Given the description of an element on the screen output the (x, y) to click on. 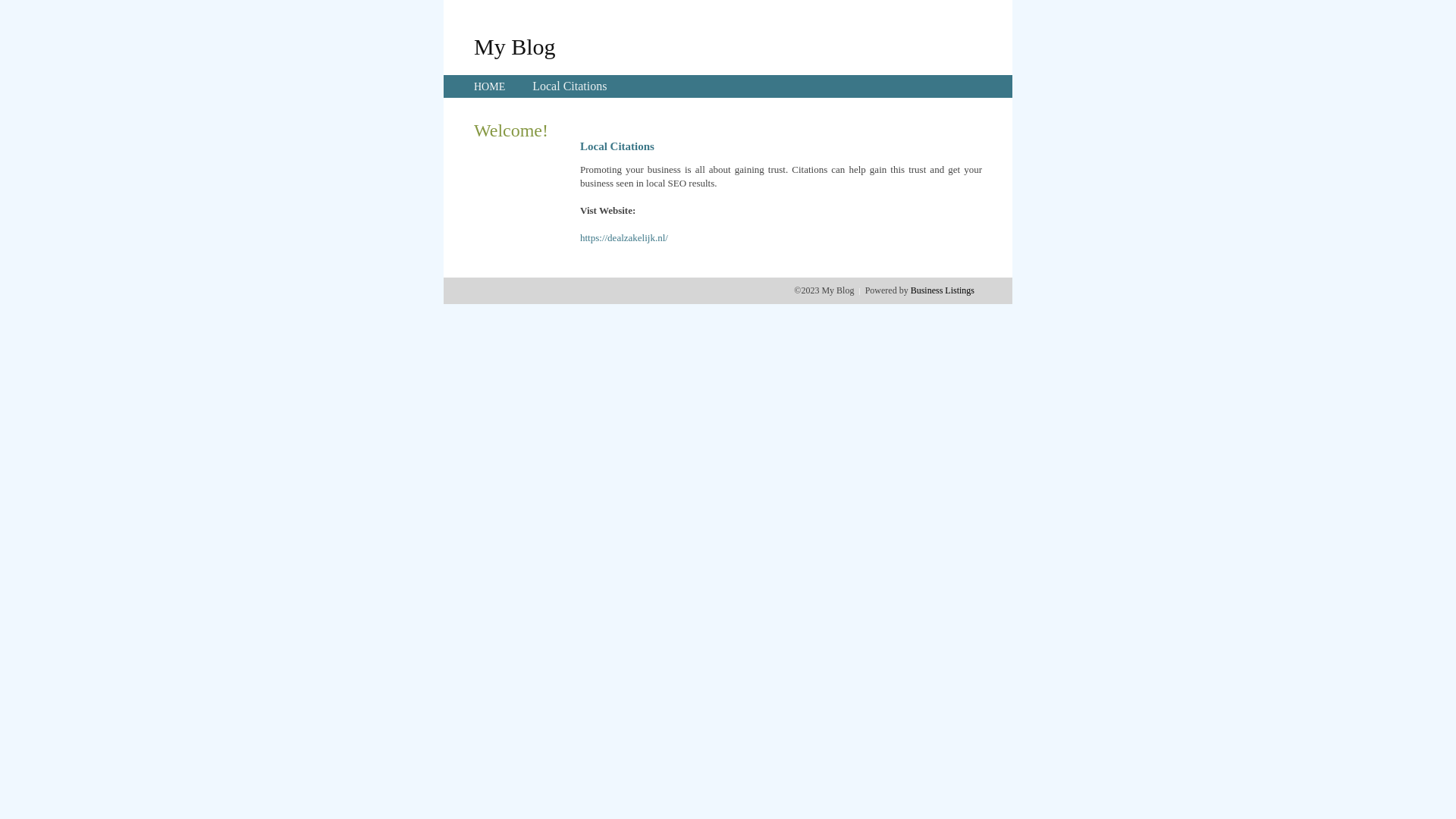
Business Listings Element type: text (942, 290)
Local Citations Element type: text (569, 85)
https://dealzakelijk.nl/ Element type: text (624, 237)
HOME Element type: text (489, 86)
My Blog Element type: text (514, 46)
